Given the description of an element on the screen output the (x, y) to click on. 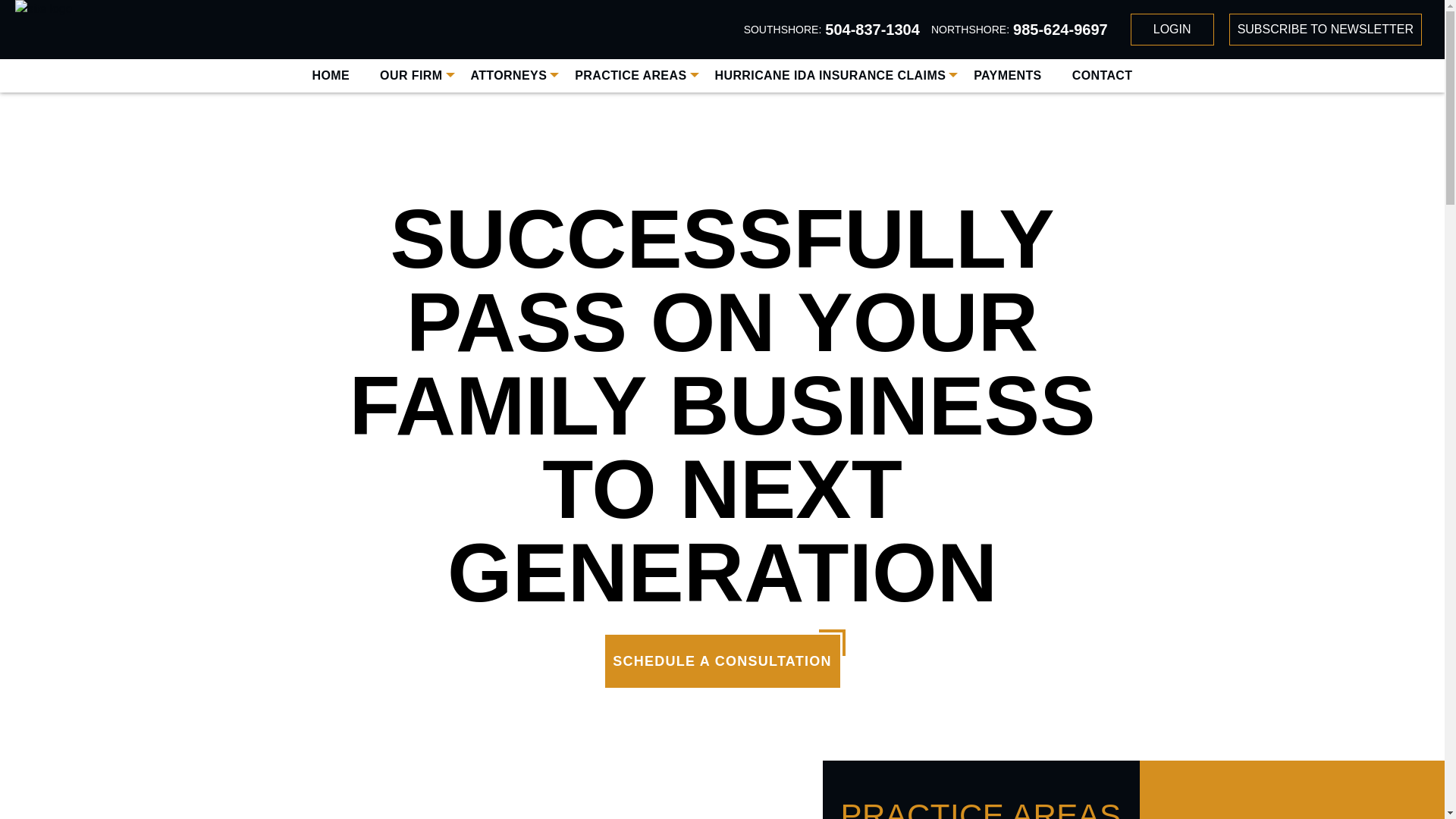
LOGIN (1172, 29)
OUR FIRM (411, 74)
504-837-1304 (872, 28)
PRACTICE AREAS (630, 74)
ATTORNEYS (508, 74)
HOME (331, 74)
985-624-9697 (1060, 28)
SUBSCRIBE TO NEWSLETTER (1325, 29)
